Given the description of an element on the screen output the (x, y) to click on. 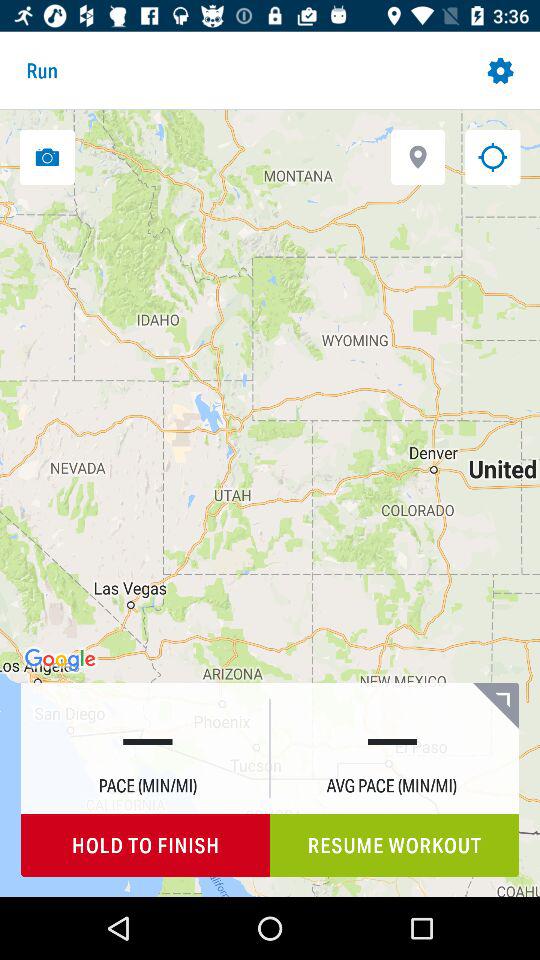
turn off the item next to resume workout item (145, 845)
